Given the description of an element on the screen output the (x, y) to click on. 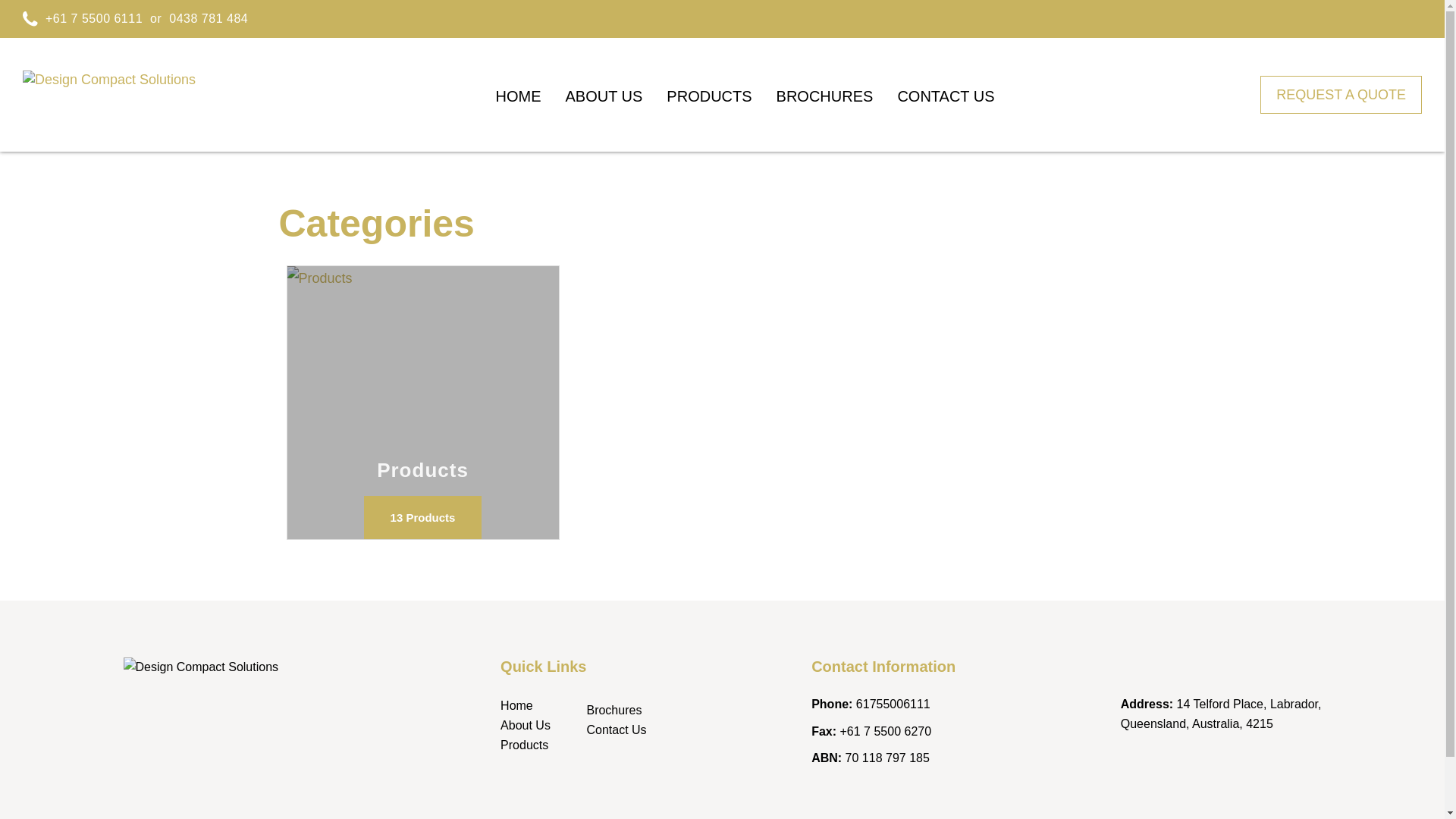
Products Element type: text (524, 744)
  Element type: text (422, 402)
Home Element type: text (516, 705)
Brochures Element type: text (613, 709)
0438 781 484 Element type: text (208, 18)
ABOUT US Element type: text (603, 90)
Fax: +61 7 5500 6270 Element type: text (871, 730)
Products Element type: hover (422, 402)
CONTACT US Element type: text (945, 90)
+61 7 5500 6111 Element type: text (93, 18)
Products Element type: hover (422, 402)
13 Products Element type: text (423, 517)
Design Compact Solutions Element type: hover (108, 94)
Contact Us Element type: text (616, 729)
About Us Element type: text (525, 725)
HOME Element type: text (517, 90)
Design Compact Solutions Element type: hover (228, 693)
BROCHURES Element type: text (824, 90)
Phone: 61755006111 Element type: text (870, 703)
PRODUCTS Element type: text (708, 90)
REQUEST A QUOTE Element type: text (1340, 94)
